Given the description of an element on the screen output the (x, y) to click on. 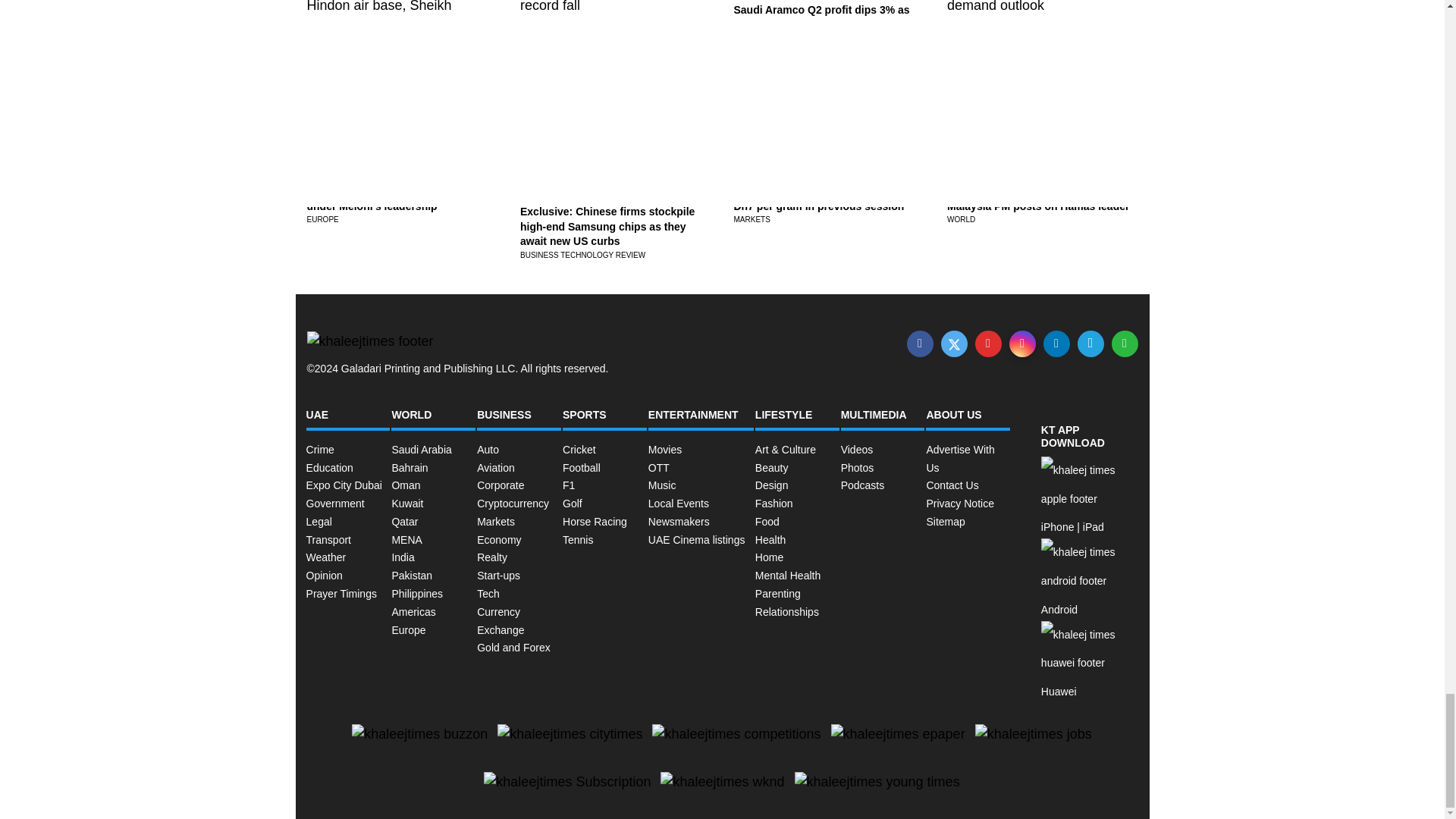
Italy's abortion divisions sharpen under Meloni's leadership (389, 198)
